Given the description of an element on the screen output the (x, y) to click on. 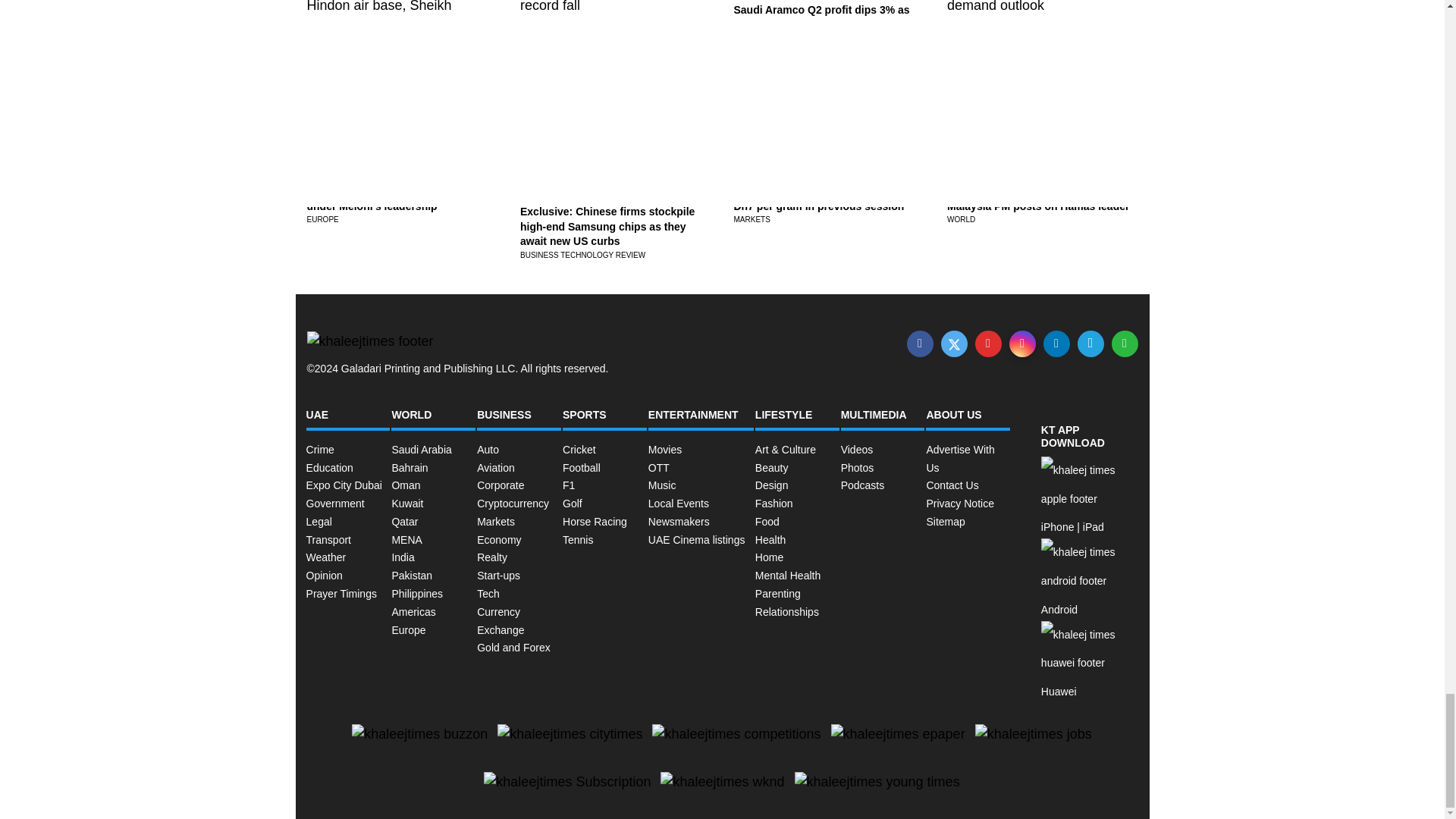
Italy's abortion divisions sharpen under Meloni's leadership (389, 198)
